Given the description of an element on the screen output the (x, y) to click on. 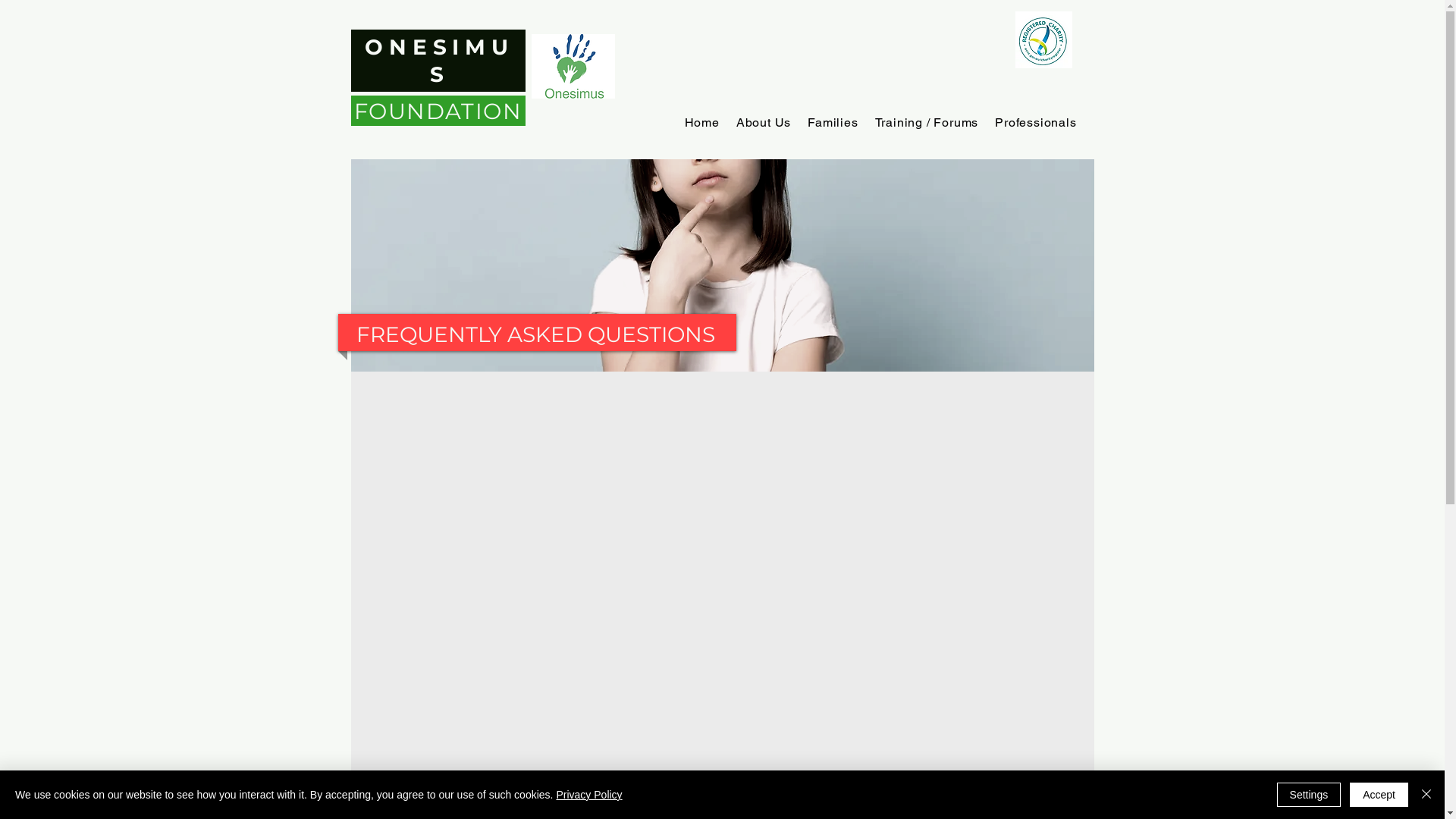
Privacy Policy Element type: text (588, 794)
Home Element type: text (701, 122)
Accept Element type: text (1378, 794)
Settings Element type: text (1309, 794)
